Given the description of an element on the screen output the (x, y) to click on. 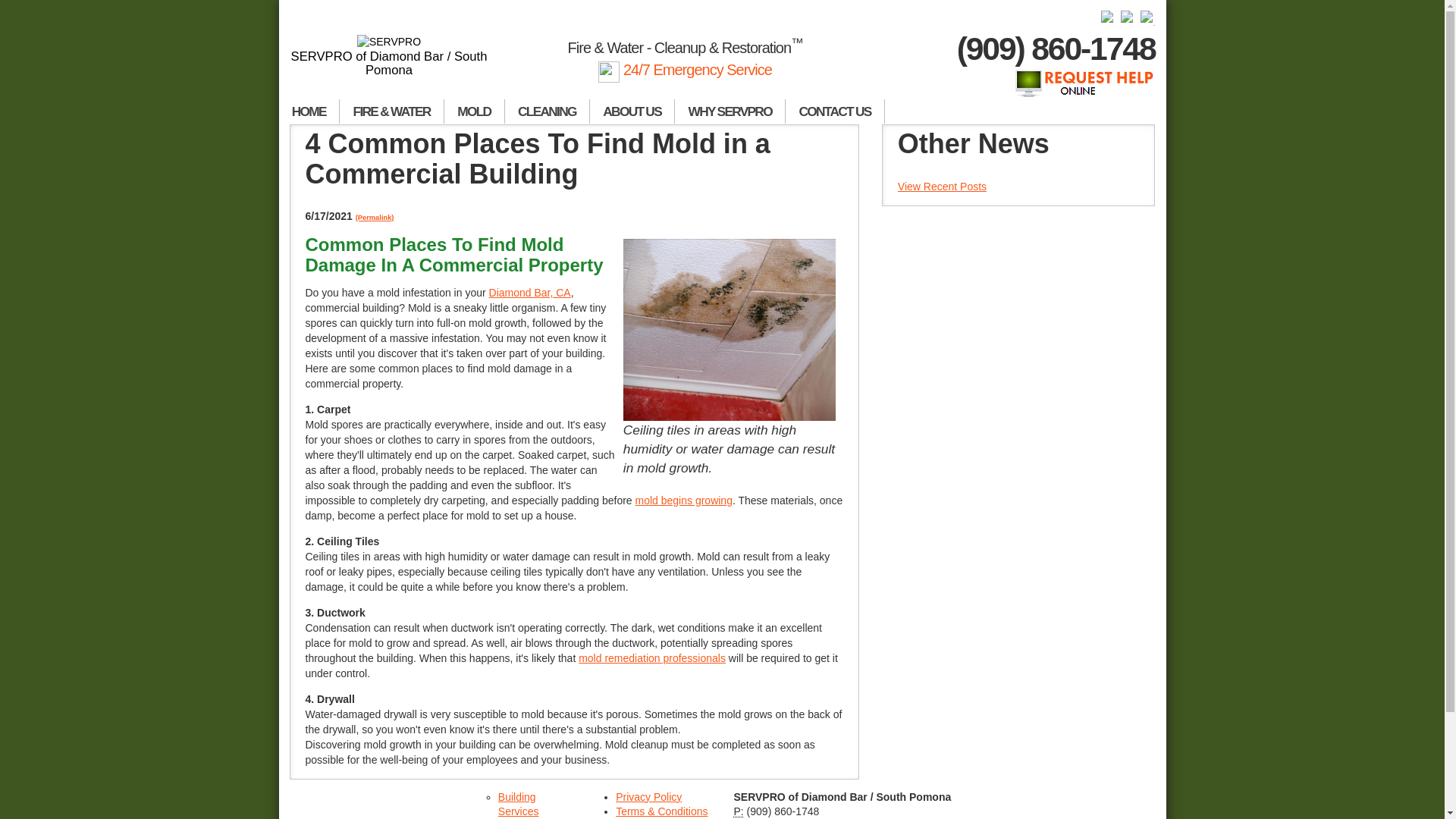
ABOUT US (632, 111)
CLEANING (547, 111)
HOME (309, 111)
MOLD (474, 111)
